Given the description of an element on the screen output the (x, y) to click on. 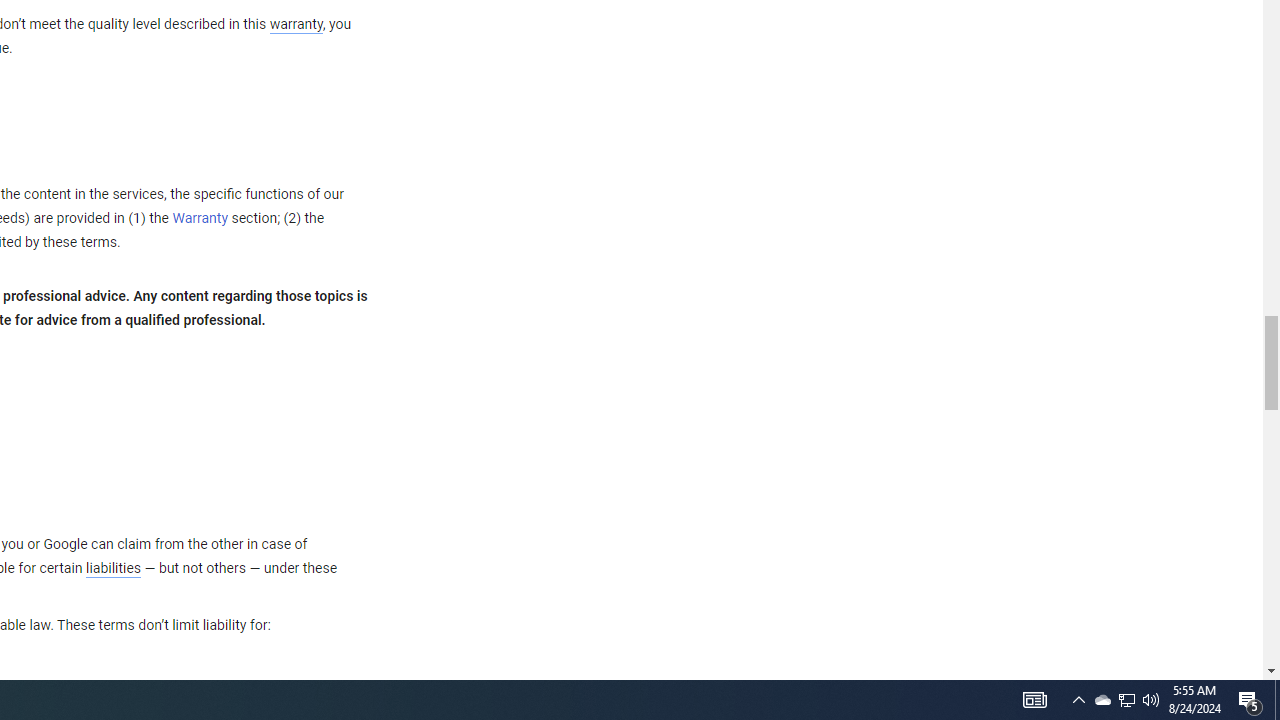
liabilities (113, 568)
Warranty (200, 219)
warranty (295, 25)
